Given the description of an element on the screen output the (x, y) to click on. 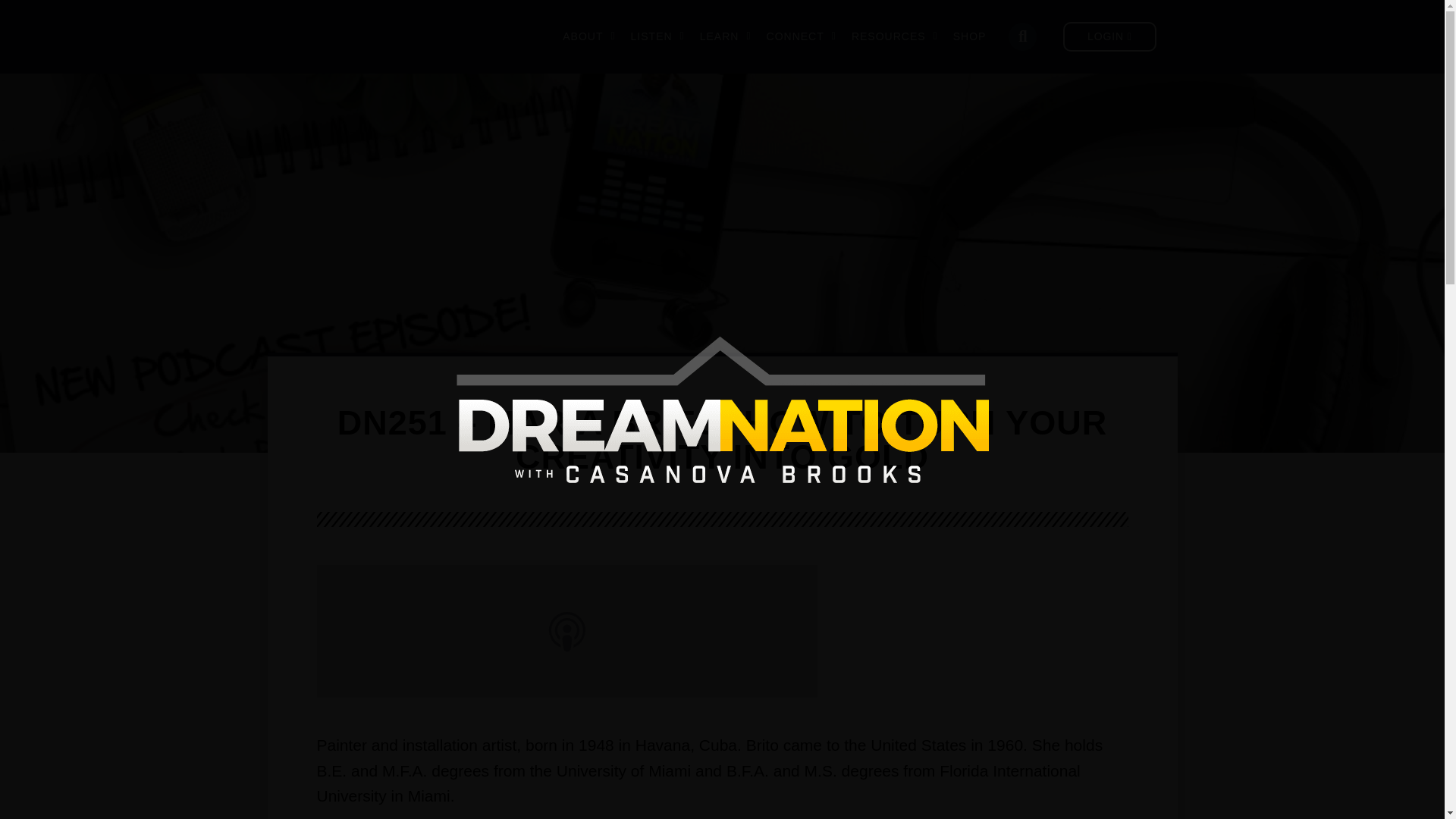
LISTEN (658, 36)
RESOURCES (894, 36)
CONNECT (801, 36)
ABOUT (588, 36)
LEARN (725, 36)
